Given the description of an element on the screen output the (x, y) to click on. 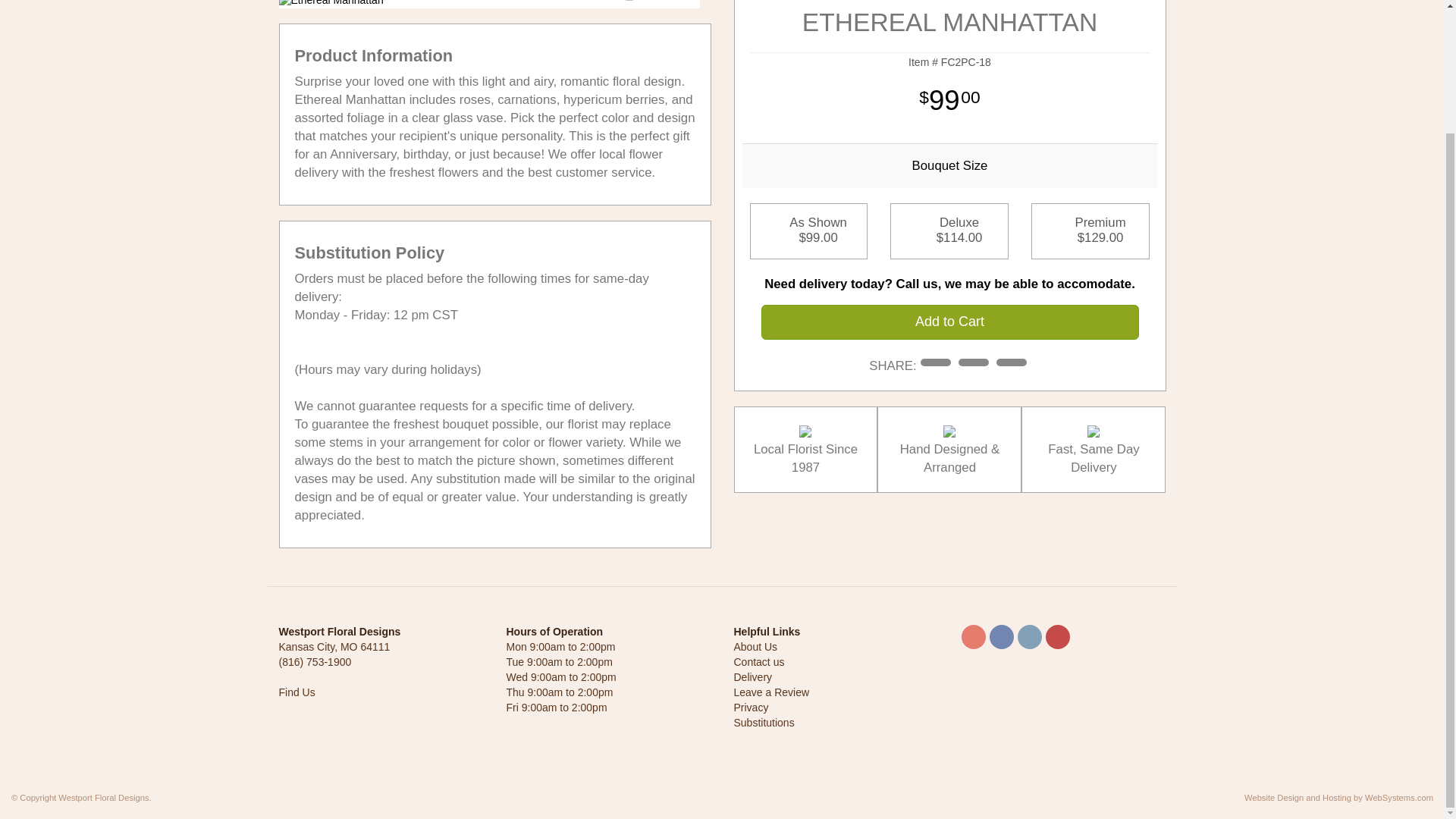
Add to Cart (949, 321)
Delivery (753, 676)
About Us (755, 646)
Find Us (297, 692)
Contact us (758, 662)
